Given the description of an element on the screen output the (x, y) to click on. 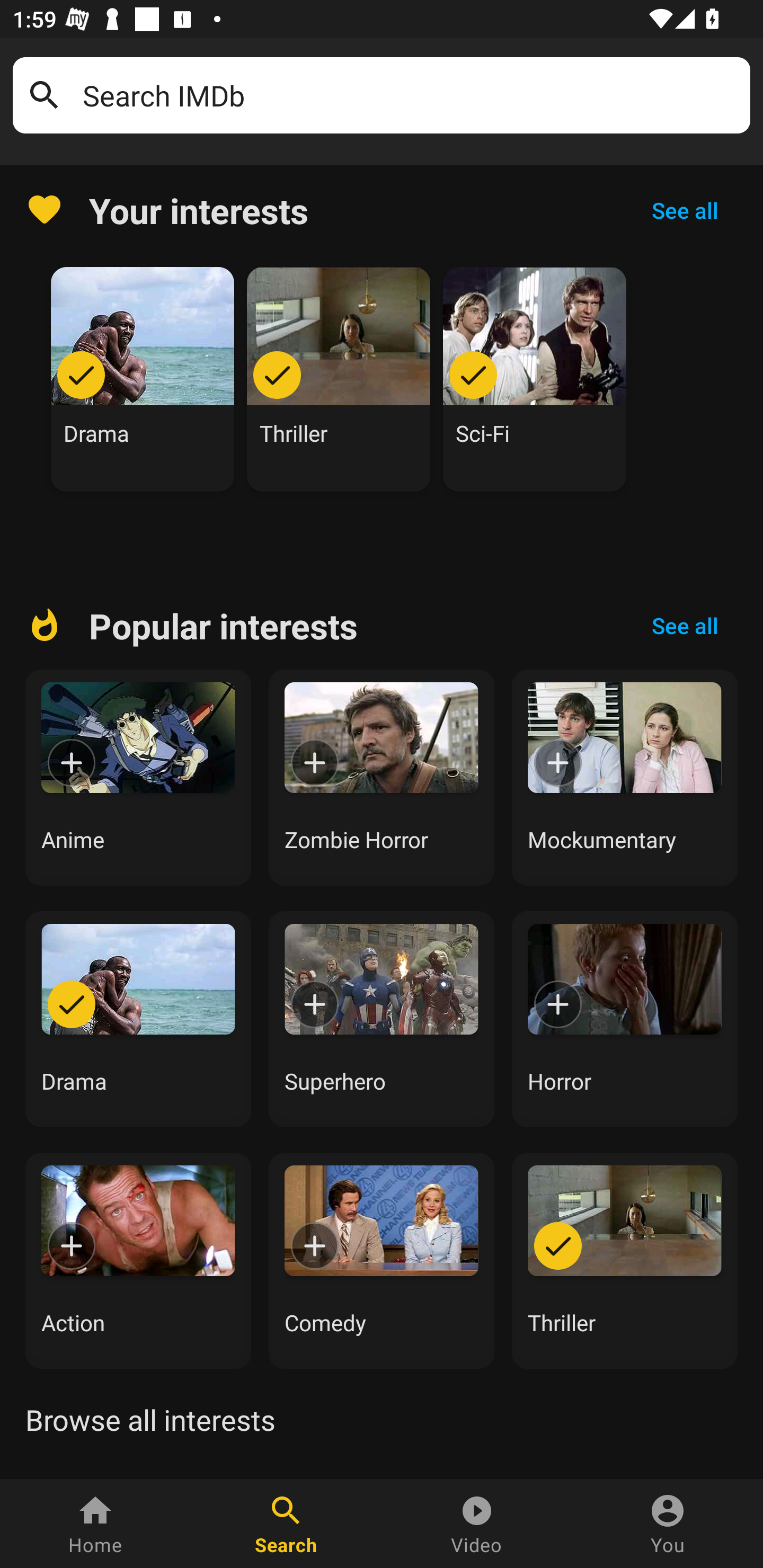
Search IMDb (410, 95)
See all (684, 209)
Drama (142, 379)
Thriller (338, 379)
Sci-Fi (534, 379)
See all (684, 625)
Anime (138, 777)
Zombie Horror (381, 777)
Mockumentary (624, 777)
Drama (138, 1018)
Superhero (381, 1018)
Horror (624, 1018)
